Given the description of an element on the screen output the (x, y) to click on. 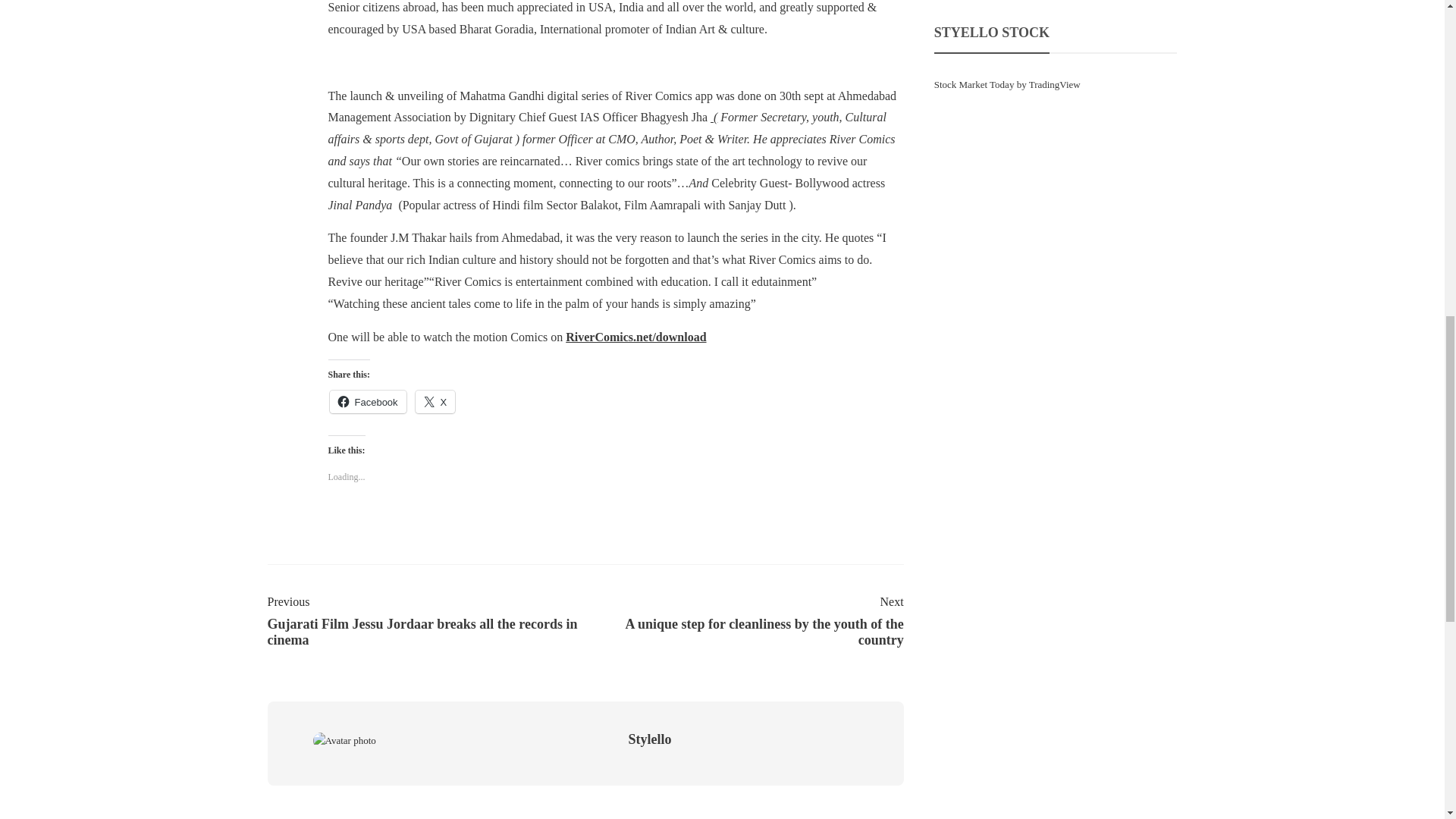
Click to share on X (434, 401)
Click to share on Facebook (367, 401)
